Given the description of an element on the screen output the (x, y) to click on. 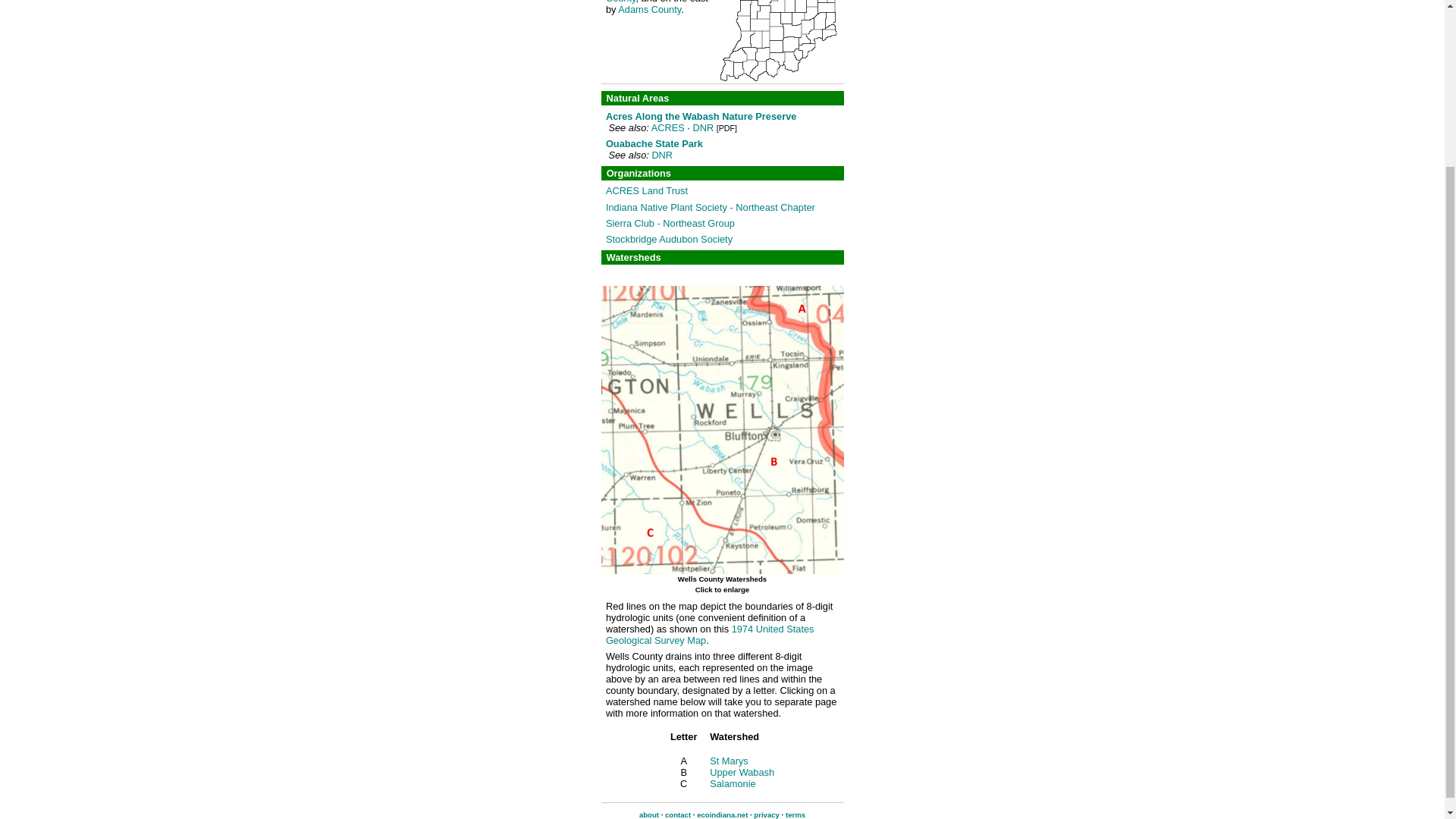
St Marys (729, 760)
1974 United States Geological Survey Map (709, 634)
Salamonie (732, 783)
Adams County (649, 9)
ACRES Land Trust (646, 190)
Sierra Club - Northeast Group (670, 223)
Jay County (660, 2)
Indiana Native Plant Society - Northeast Chapter (710, 206)
Ouabache State Park (654, 143)
ACRES (667, 127)
Upper Wabash (742, 772)
DNR (661, 154)
Stockbridge Audubon Society (668, 238)
Acres Along the Wabash Nature Preserve (700, 116)
DNR (703, 127)
